Given the description of an element on the screen output the (x, y) to click on. 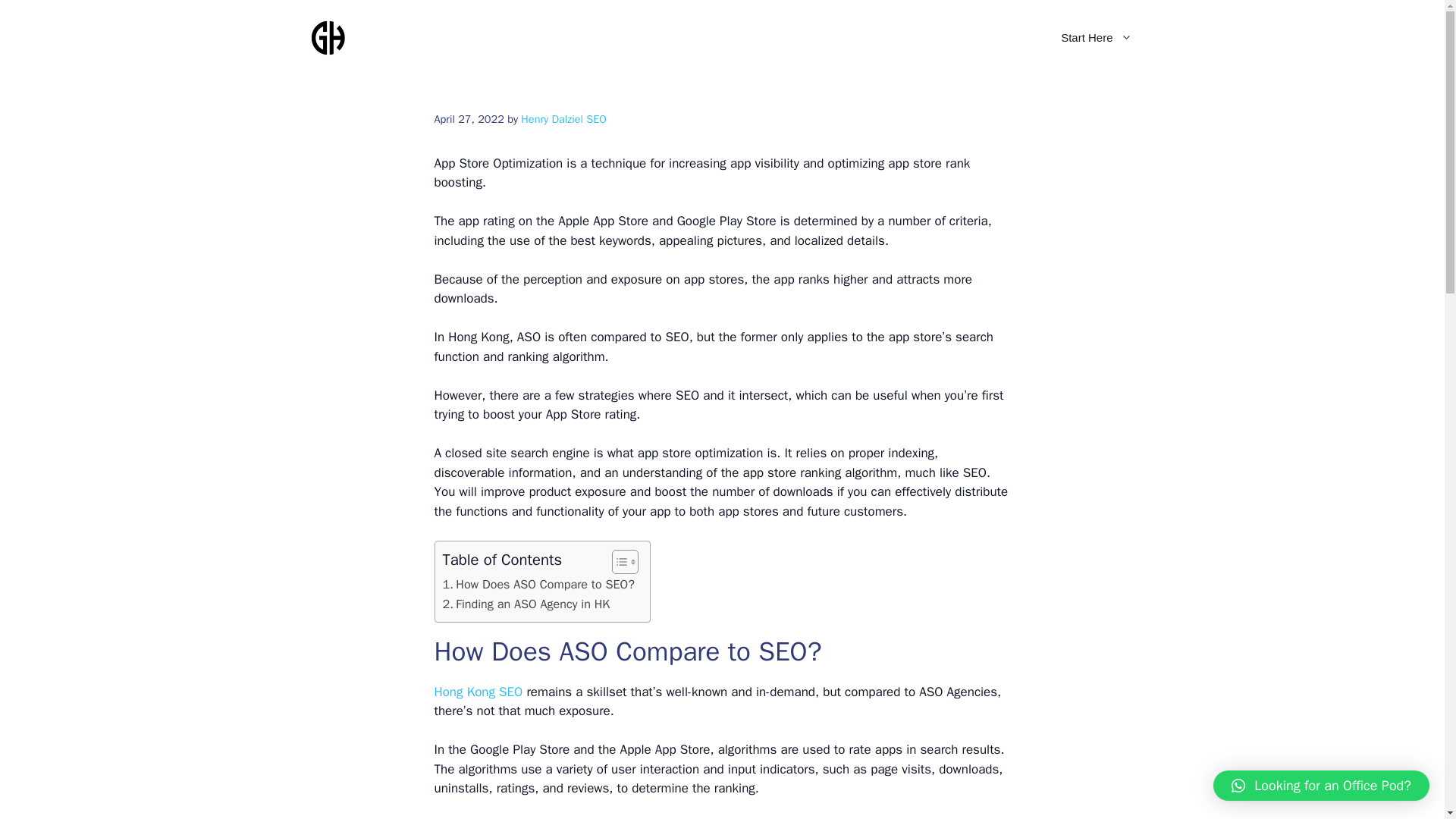
Henry Dalziel SEO (563, 119)
View all posts by Henry Dalziel SEO (563, 119)
Finding an ASO Agency in HK (526, 604)
How Does ASO Compare to SEO? (538, 584)
Start Here (1096, 37)
Hong Kong SEO (477, 691)
How Does ASO Compare to SEO? (538, 584)
Finding an ASO Agency in HK (526, 604)
